Given the description of an element on the screen output the (x, y) to click on. 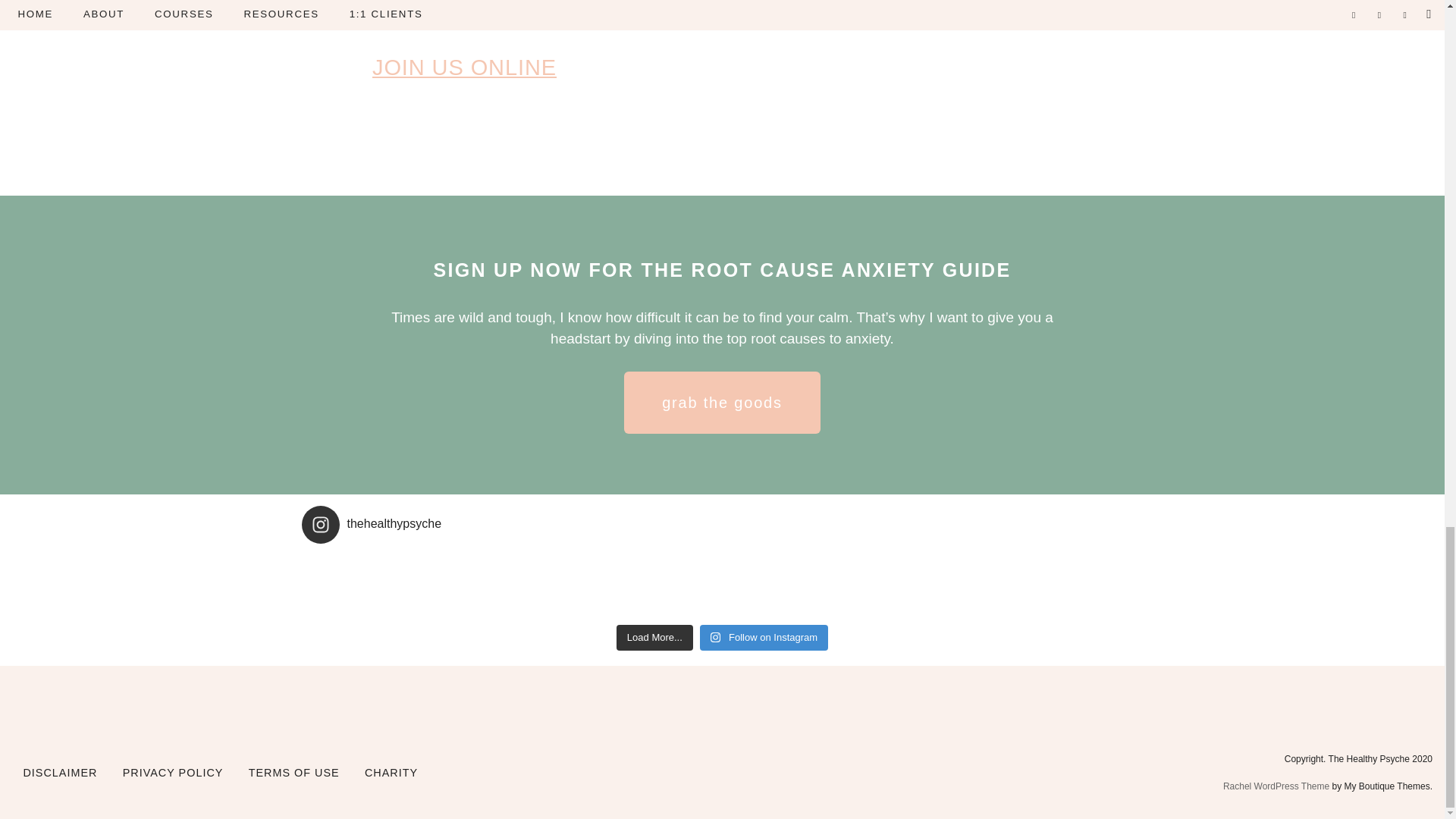
SIGN UP NOW FOR THE ROOT CAUSE ANXIETY GUIDE (722, 269)
JOIN US ONLINE (464, 67)
thehealthypsyche (721, 524)
grab the goods (722, 402)
